Given the description of an element on the screen output the (x, y) to click on. 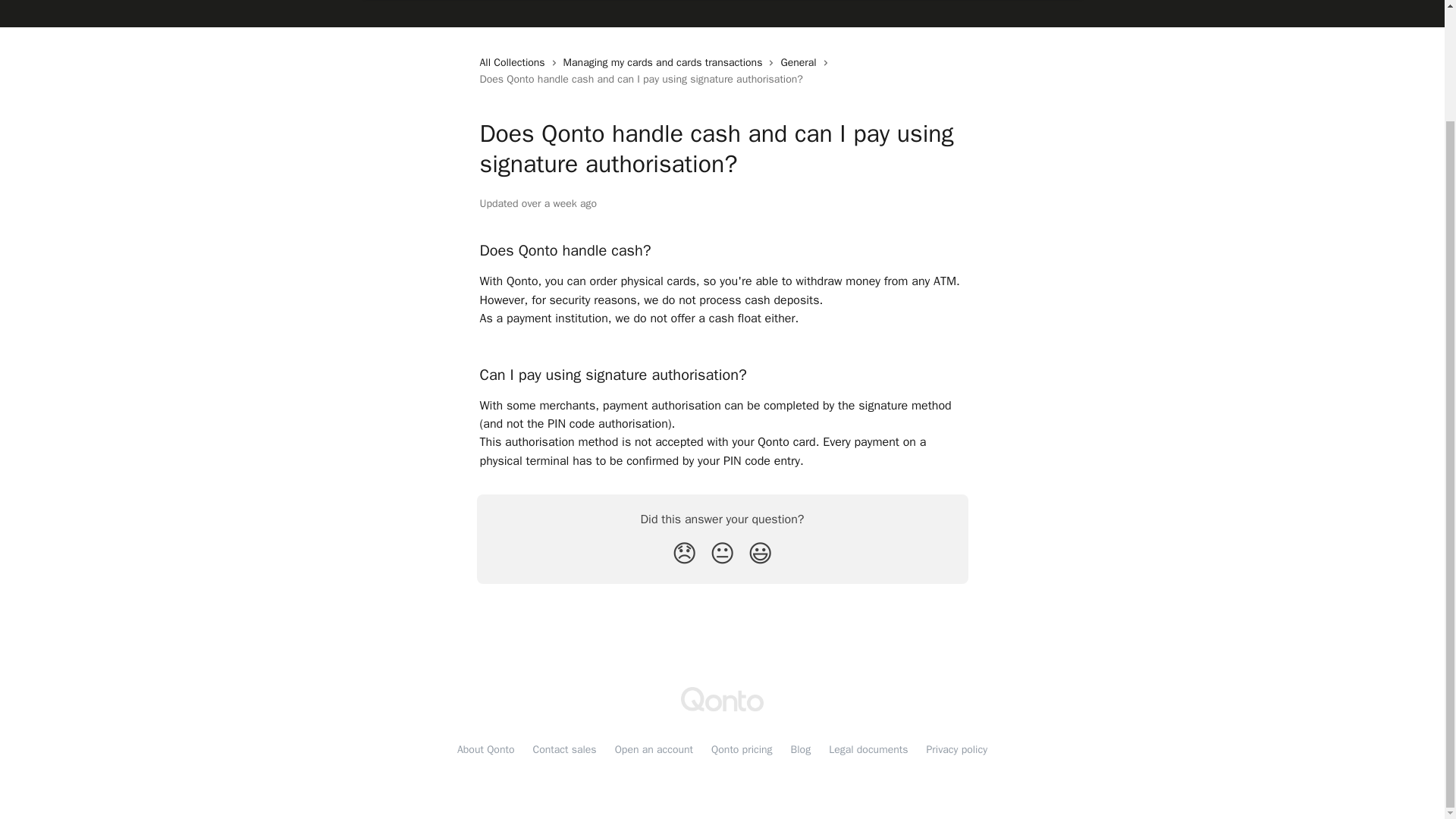
Open an account (653, 748)
Qonto pricing (742, 748)
Privacy policy (956, 748)
About Qonto (485, 748)
All Collections (514, 62)
Legal documents (867, 748)
Managing my cards and cards transactions (665, 62)
General (801, 62)
Blog (800, 748)
Contact sales (563, 748)
